Given the description of an element on the screen output the (x, y) to click on. 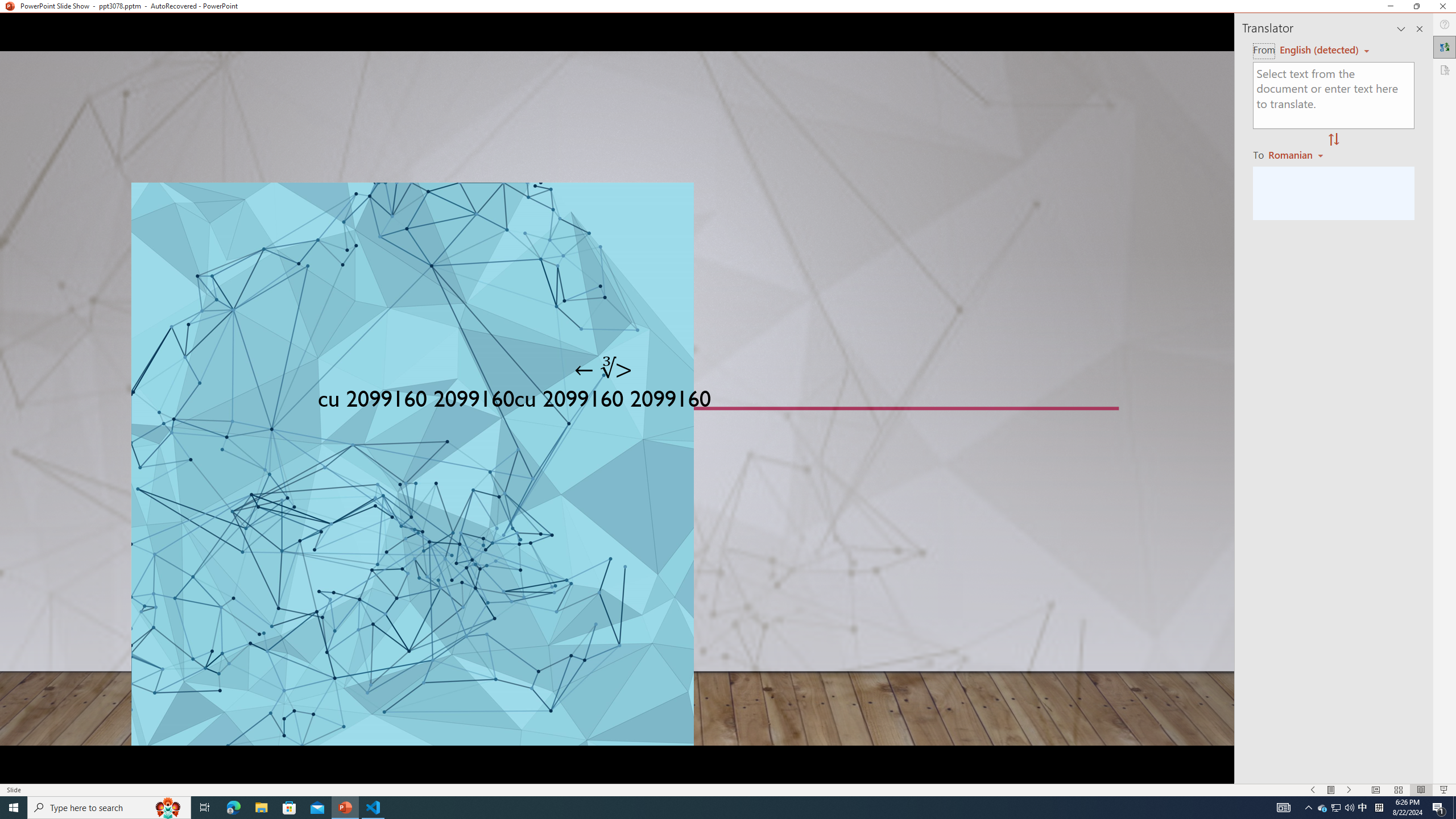
Czech (detected) (1319, 50)
Slide Show Next On (1349, 790)
